Given the description of an element on the screen output the (x, y) to click on. 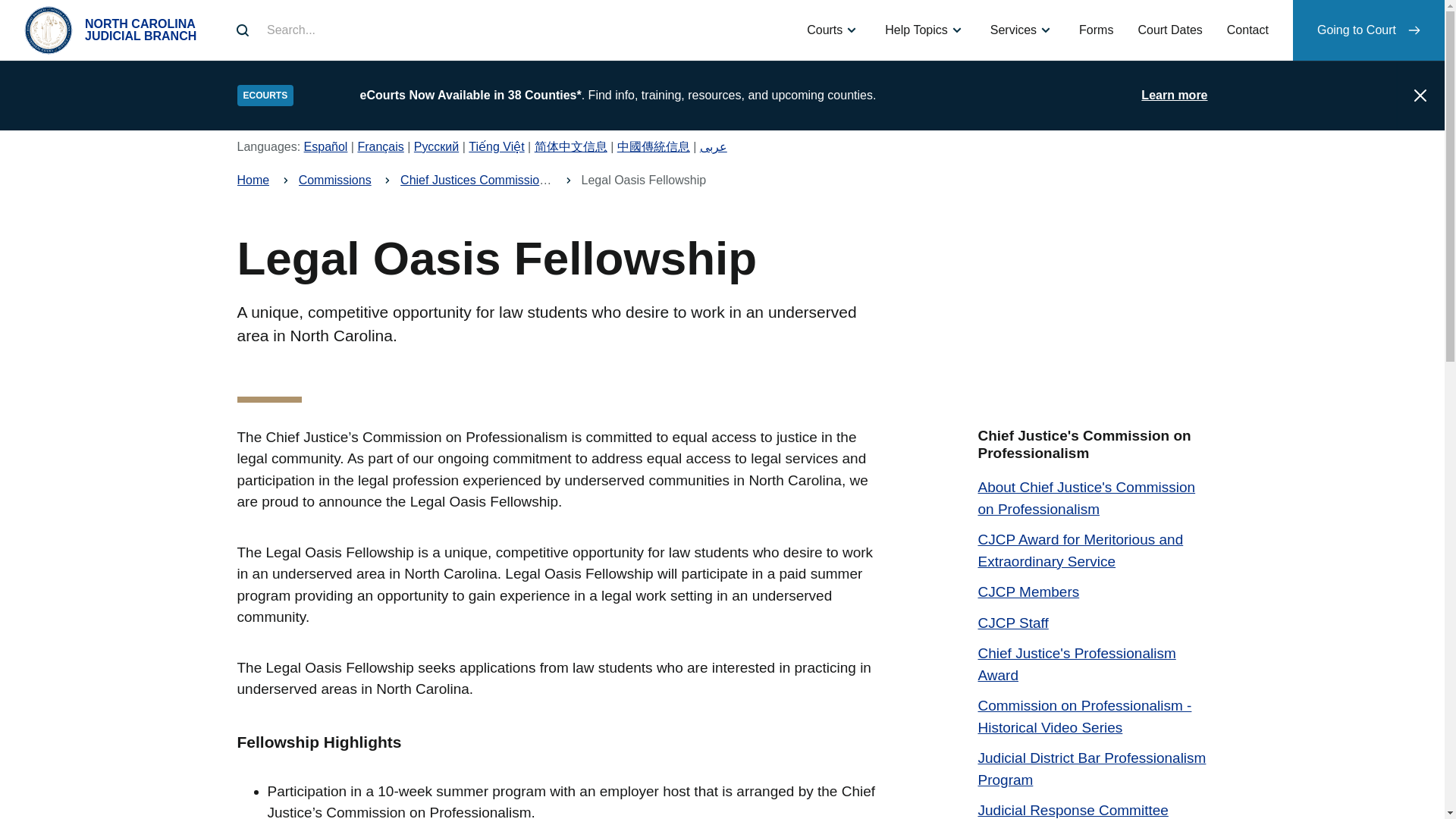
Courts (833, 30)
Go back to: Commissions (334, 179)
NORTH CAROLINA JUDICIAL BRANCH (115, 30)
Go back to: Home (252, 179)
Help Topics (924, 30)
Go back to: Chief Justices Commission On Professionalism (526, 179)
Currently viewing: Legal Oasis Fellowship (643, 179)
Search... (242, 30)
Home (115, 30)
